Given the description of an element on the screen output the (x, y) to click on. 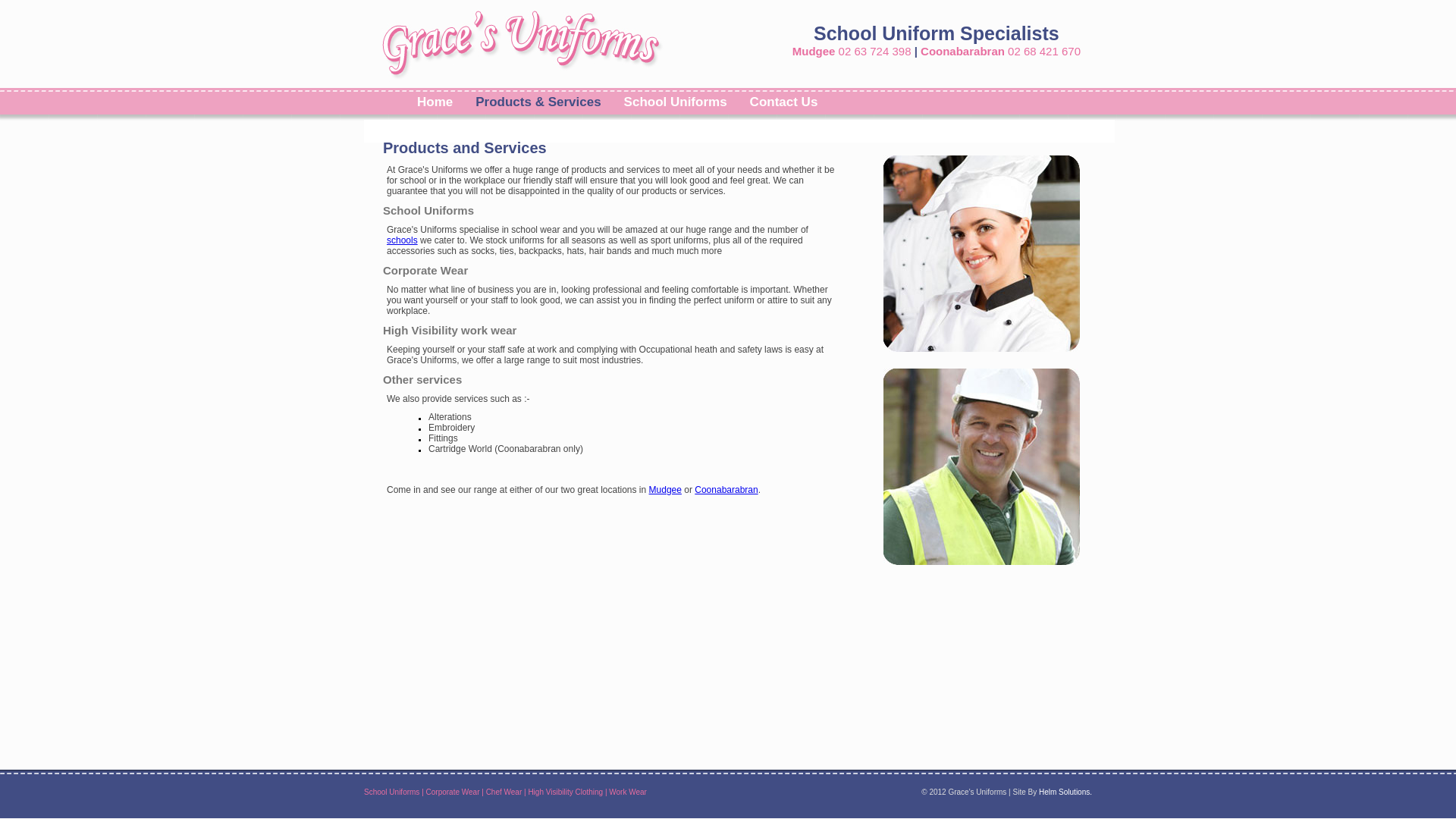
Helm Solutions. Element type: text (1065, 791)
Coonabarabran Element type: text (725, 489)
Mudgee Element type: text (665, 489)
Contact Us Element type: text (783, 101)
schools Element type: text (401, 240)
School Uniforms Element type: text (675, 101)
Home Element type: text (434, 101)
Products & Services Element type: text (537, 101)
Grace's Uniforms Element type: hover (520, 42)
